Given the description of an element on the screen output the (x, y) to click on. 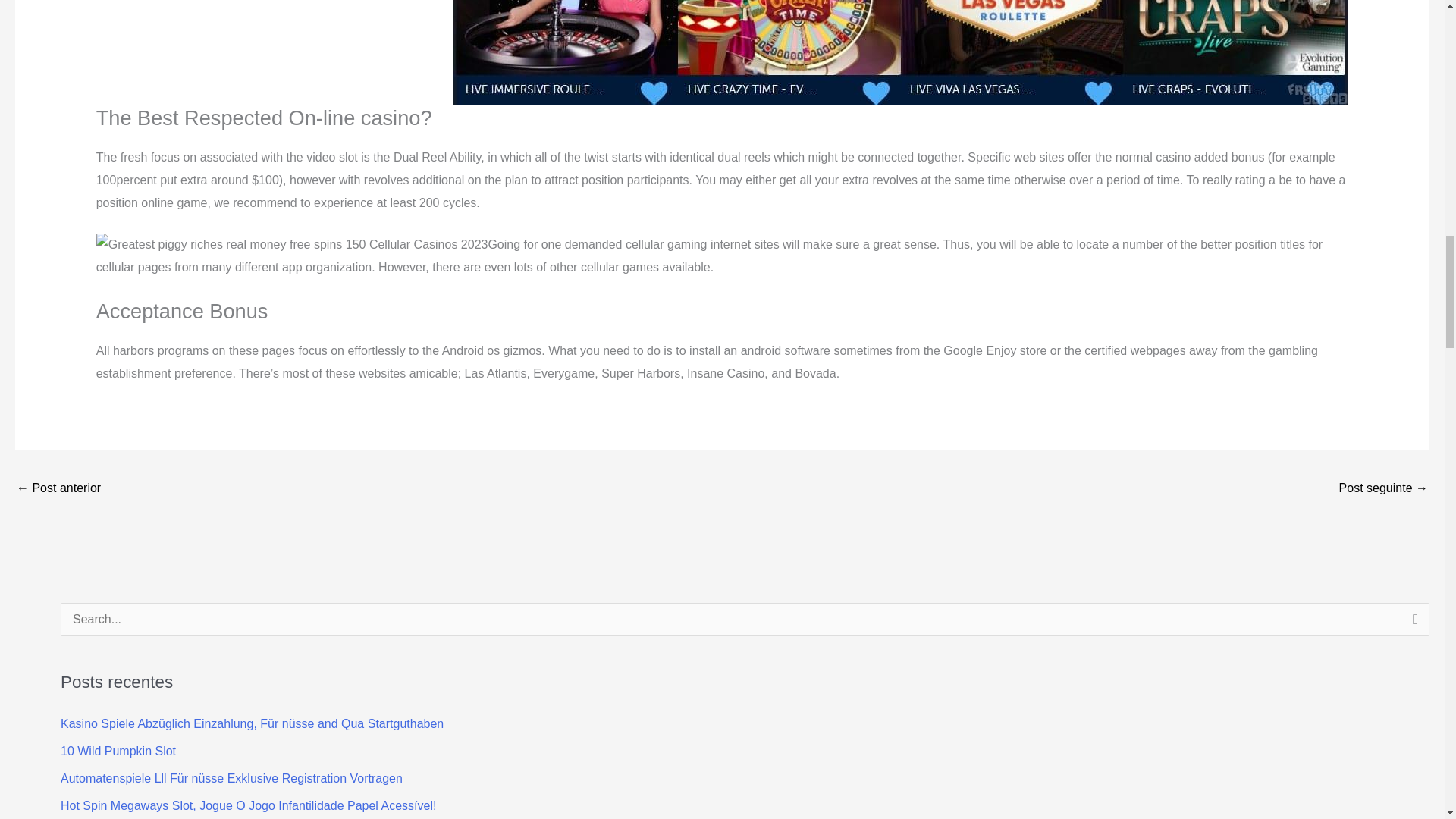
10 Wild Pumpkin Slot (118, 750)
Rugged star crystals online slot Slot Games (58, 489)
